Given the description of an element on the screen output the (x, y) to click on. 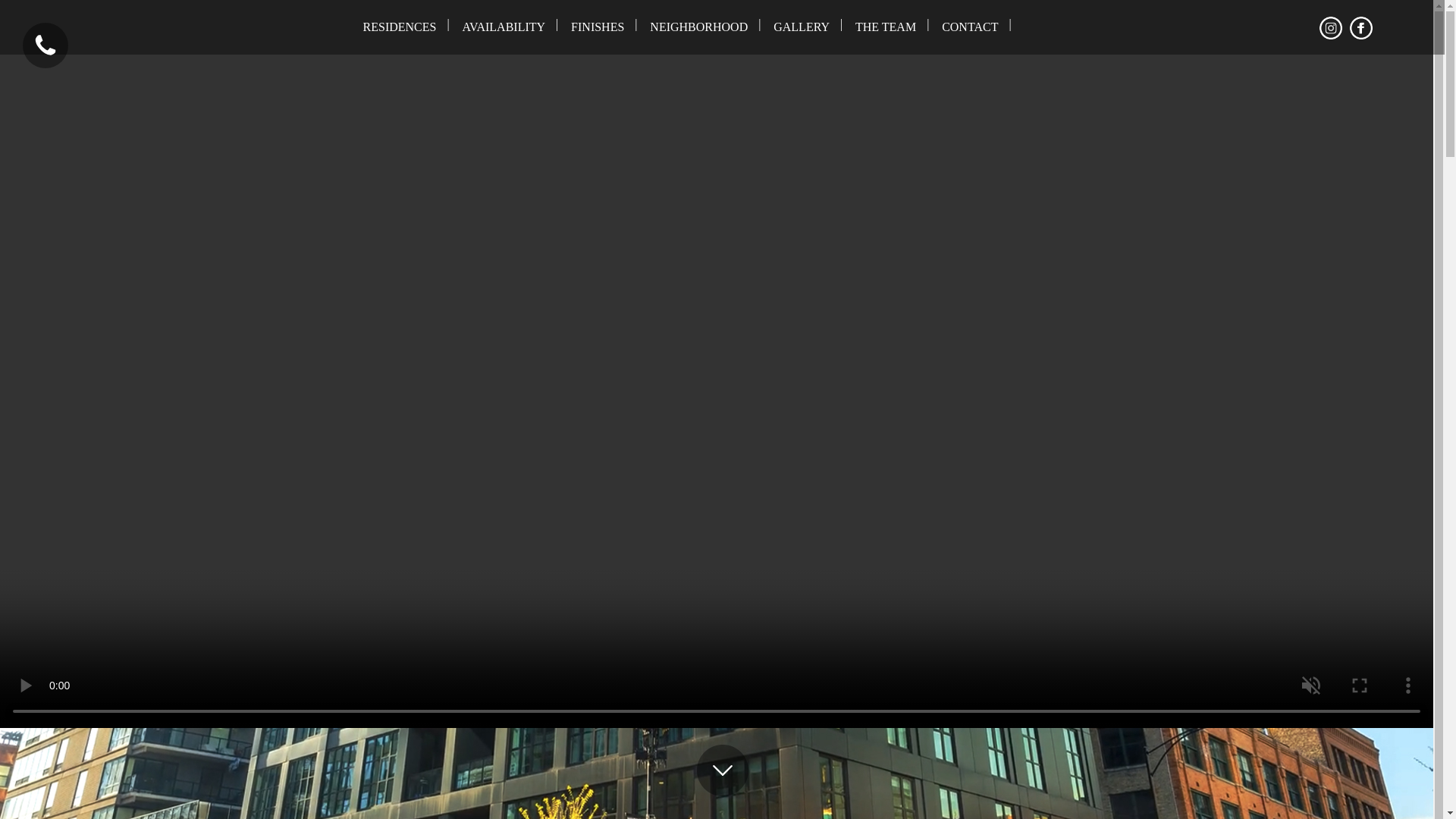
AVAILABILITY (502, 27)
THE TEAM (885, 27)
The team (885, 27)
Gallery (801, 27)
NEIGHBORHOOD (698, 27)
RESIDENCES (400, 27)
Contact (969, 27)
Finishes (596, 27)
Availability (502, 27)
CONTACT (969, 27)
